Given the description of an element on the screen output the (x, y) to click on. 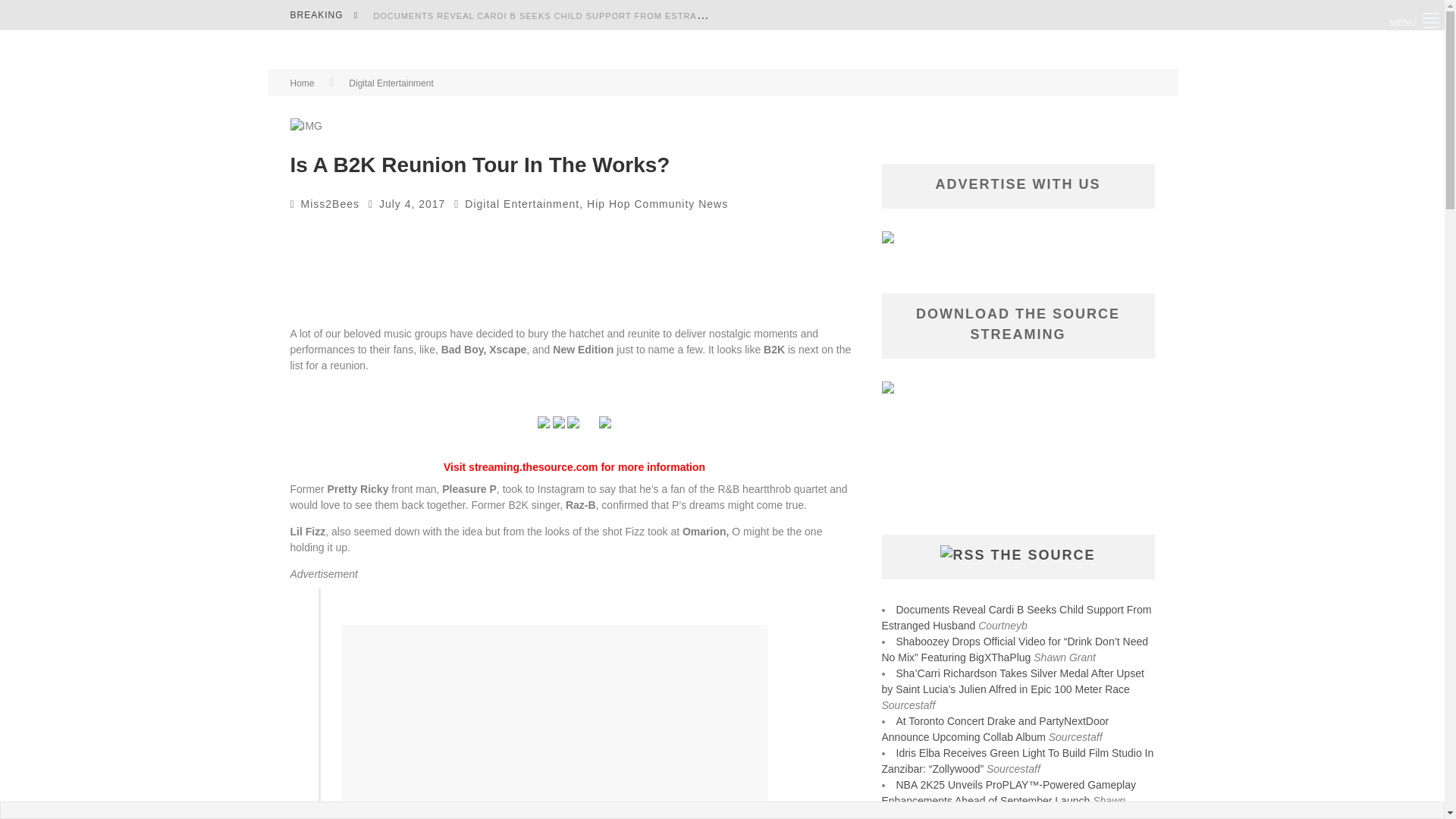
Digital Entertainment (521, 203)
View all posts in Hip Hop Community News (657, 203)
Miss2Bees (330, 203)
View all posts in Digital Entertainment (390, 82)
Hip Hop Community News (657, 203)
Digital Entertainment (390, 82)
Visit streaming.thesource.com for more information (574, 467)
